Given the description of an element on the screen output the (x, y) to click on. 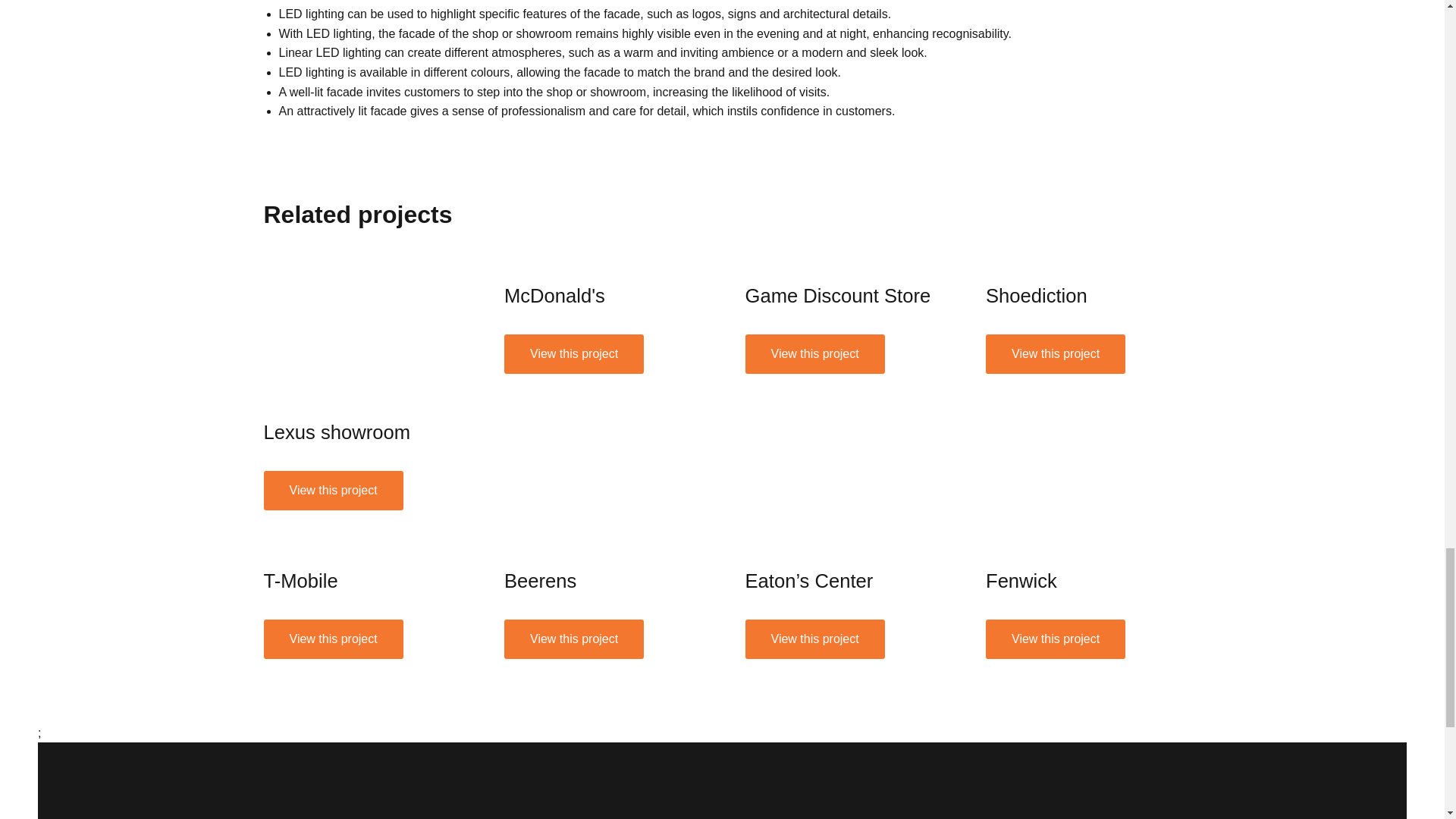
Game Discount Store (813, 353)
Lexus (333, 490)
Game Discount Store (837, 295)
Lexus showroom (336, 432)
Shoediction (1082, 261)
Shoediction (1036, 295)
McDonald's  (601, 261)
McDonald's  (554, 295)
Shoediction (1055, 353)
Lexus showroom (361, 329)
